Given the description of an element on the screen output the (x, y) to click on. 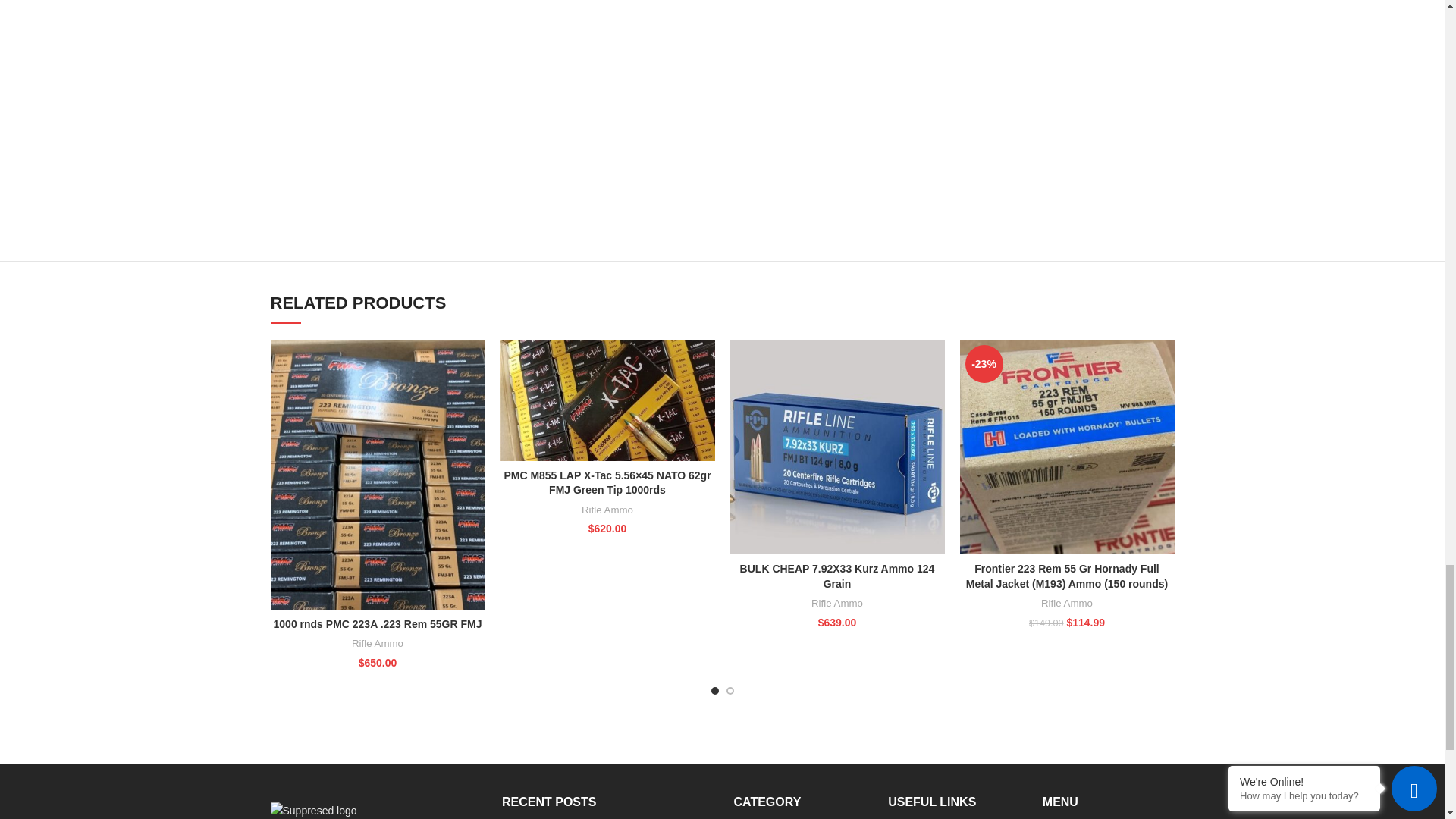
Suppresed logo (312, 810)
